Given the description of an element on the screen output the (x, y) to click on. 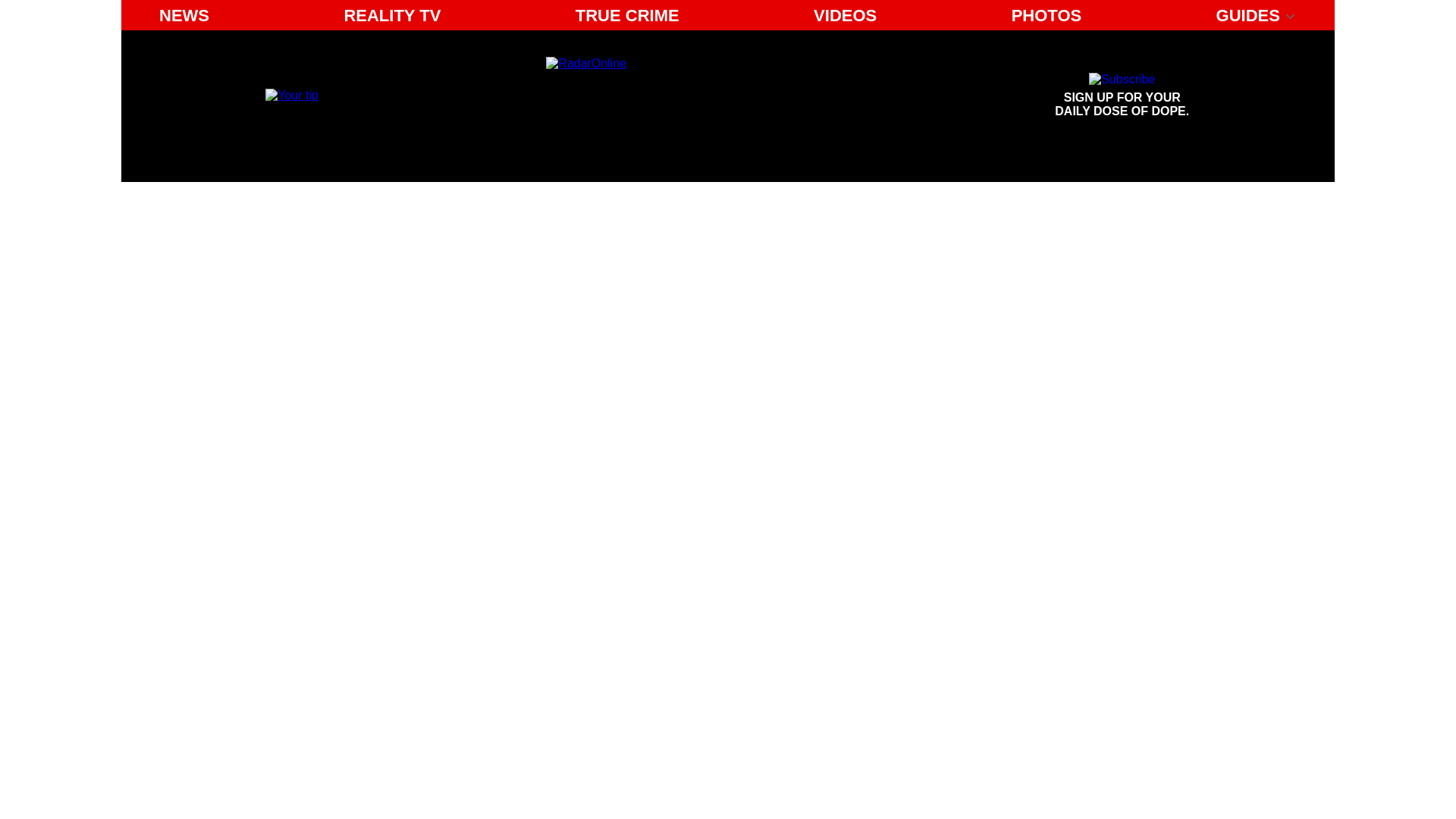
Email us your tip (1122, 94)
VIDEOS (291, 94)
Sign up for your daily dose of dope. (844, 15)
REALITY TV (1122, 94)
Radar Online (392, 15)
TRUE CRIME (685, 95)
NEWS (627, 15)
PHOTOS (183, 15)
